Given the description of an element on the screen output the (x, y) to click on. 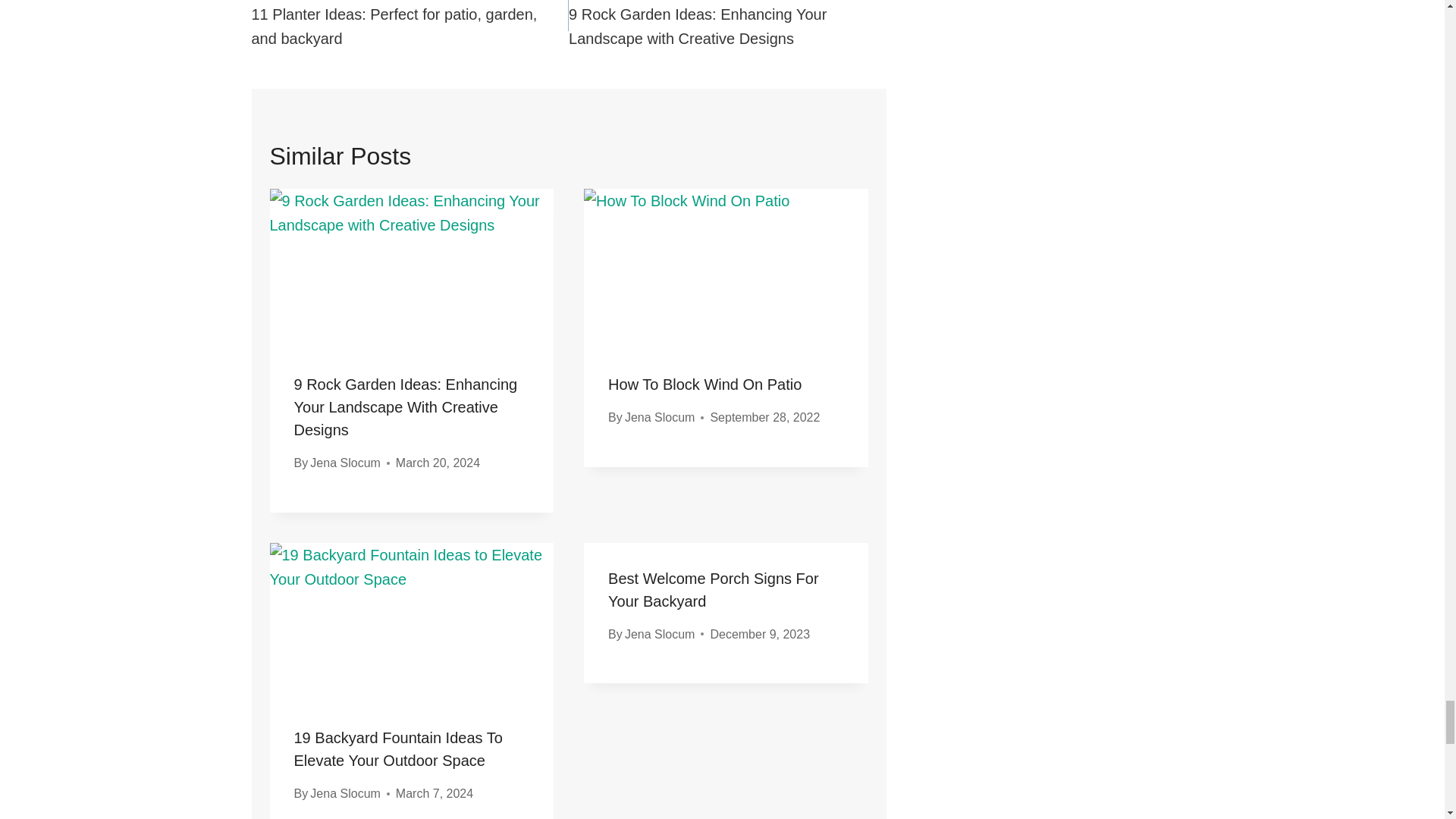
Jena Slocum (345, 462)
Jena Slocum (659, 417)
How To Block Wind On Patio (705, 384)
